Given the description of an element on the screen output the (x, y) to click on. 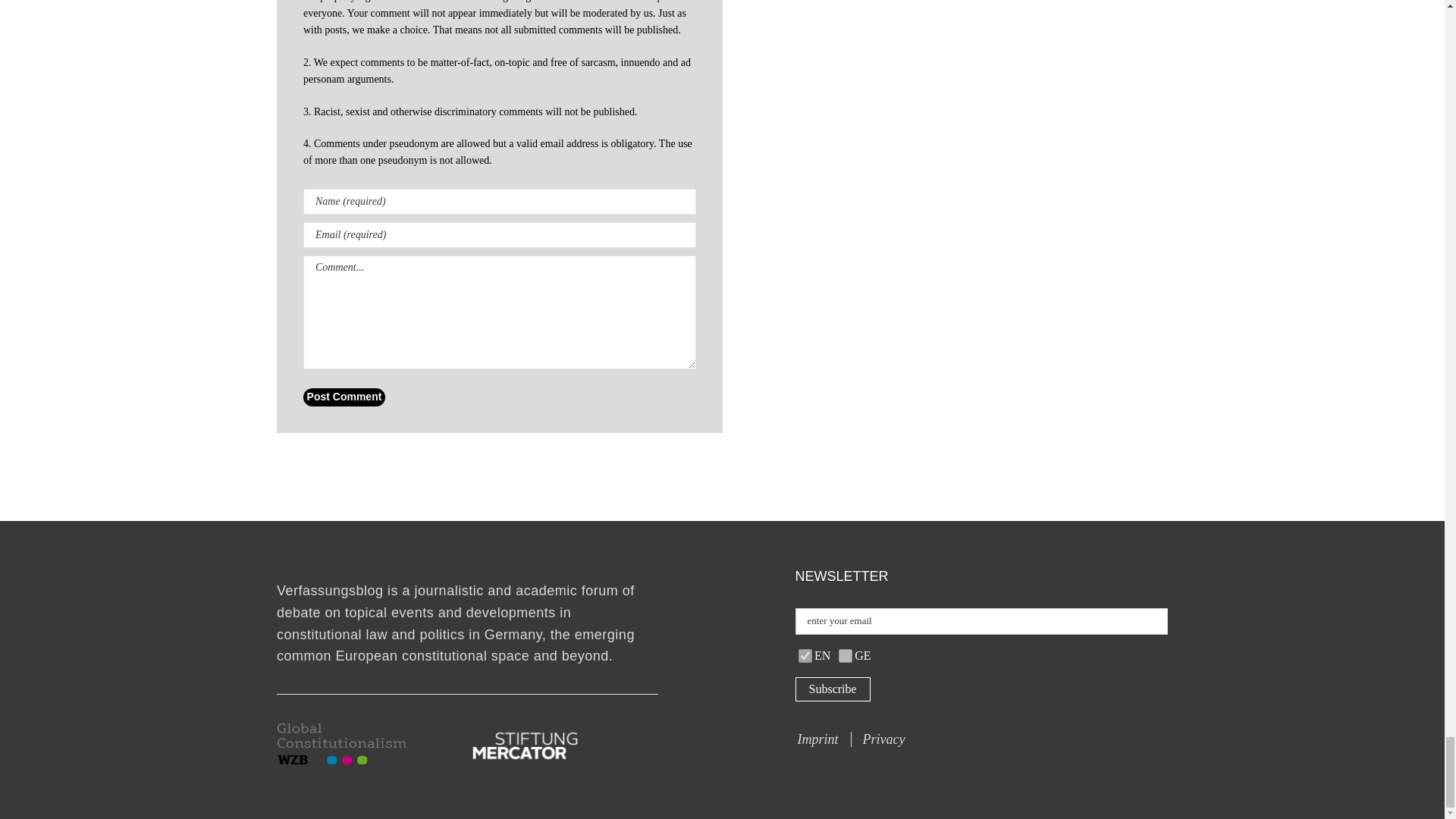
1 (844, 655)
Post Comment (343, 397)
Subscribe (831, 688)
2 (804, 655)
